Given the description of an element on the screen output the (x, y) to click on. 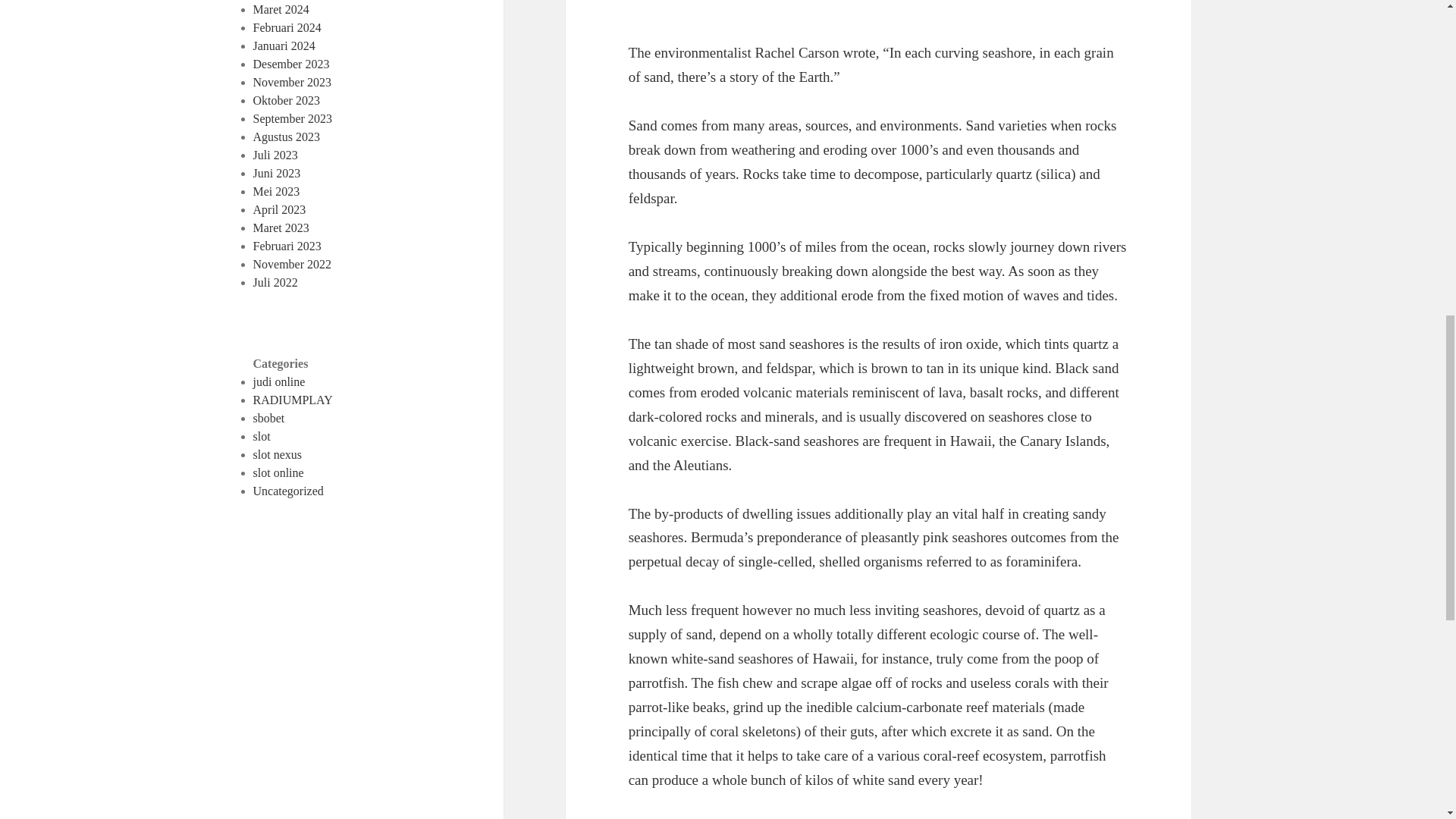
sbobet (269, 418)
Juni 2023 (277, 173)
Februari 2024 (287, 27)
April 2023 (279, 209)
Agustus 2023 (286, 136)
Januari 2024 (284, 45)
RADIUMPLAY (293, 399)
Februari 2023 (287, 245)
Oktober 2023 (286, 100)
slot online (278, 472)
Juli 2023 (275, 154)
Uncategorized (288, 490)
slot nexus (277, 454)
November 2022 (292, 264)
Mei 2023 (276, 191)
